Given the description of an element on the screen output the (x, y) to click on. 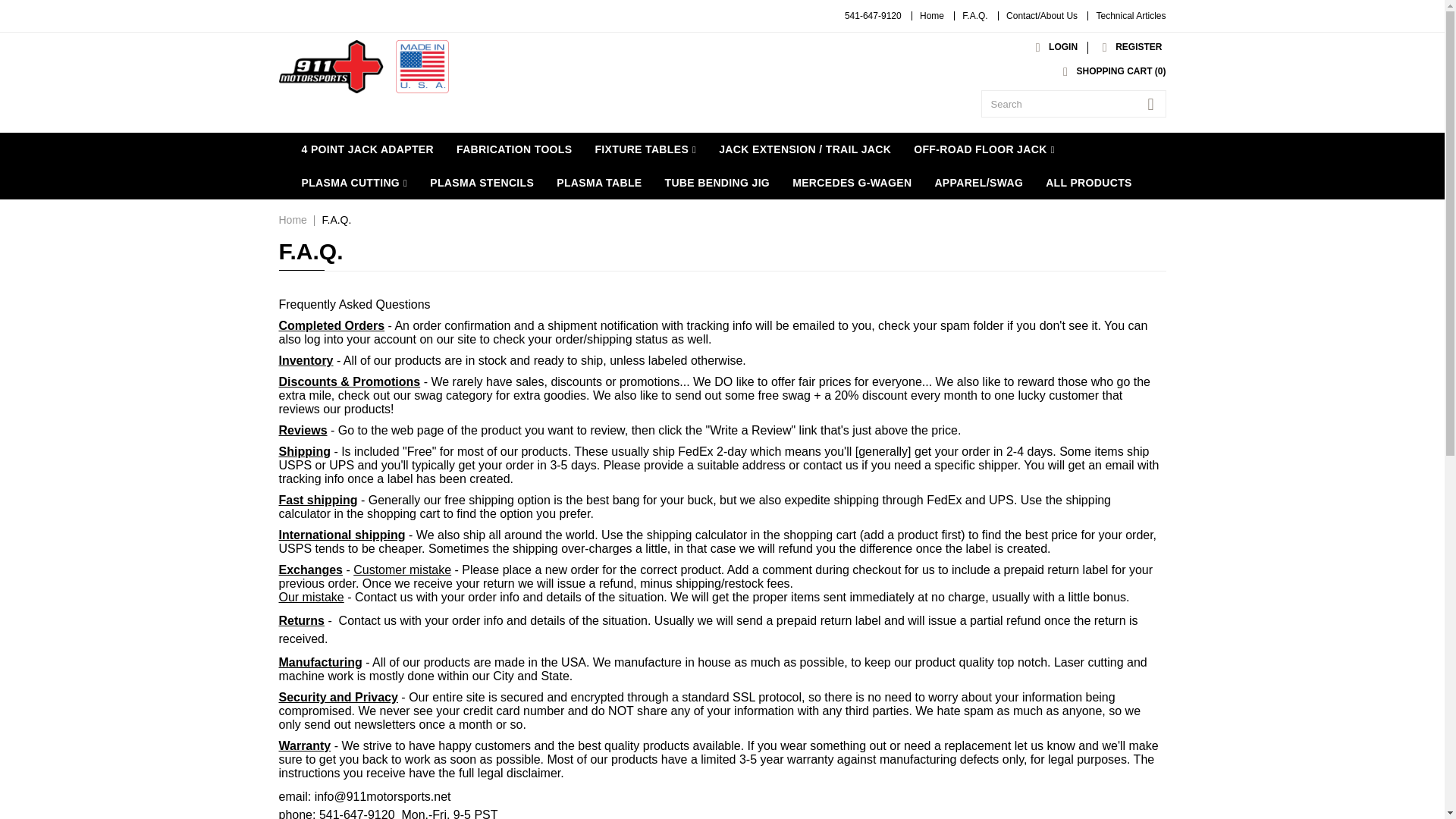
PLASMA CUTTING (354, 182)
541-647-9120 (872, 15)
FIXTURE TABLES (645, 149)
OFF-ROAD FLOOR JACK (983, 149)
4 POINT JACK ADAPTER (367, 149)
LOGIN (1053, 46)
PLASMA STENCILS (481, 182)
REGISTER (1128, 46)
FABRICATION TOOLS (514, 149)
Technical Articles (1131, 15)
Home (931, 15)
F.A.Q. (974, 15)
PLASMA TABLE (598, 182)
